Given the description of an element on the screen output the (x, y) to click on. 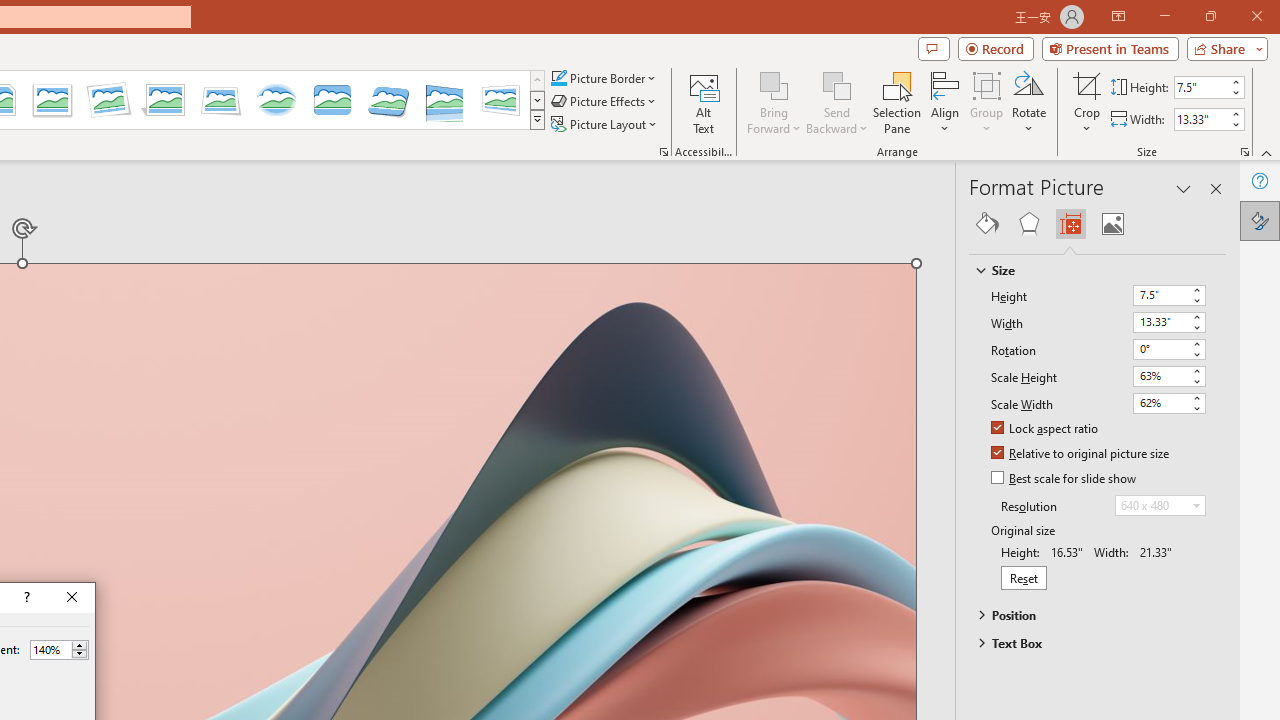
Context help (25, 597)
